Given the description of an element on the screen output the (x, y) to click on. 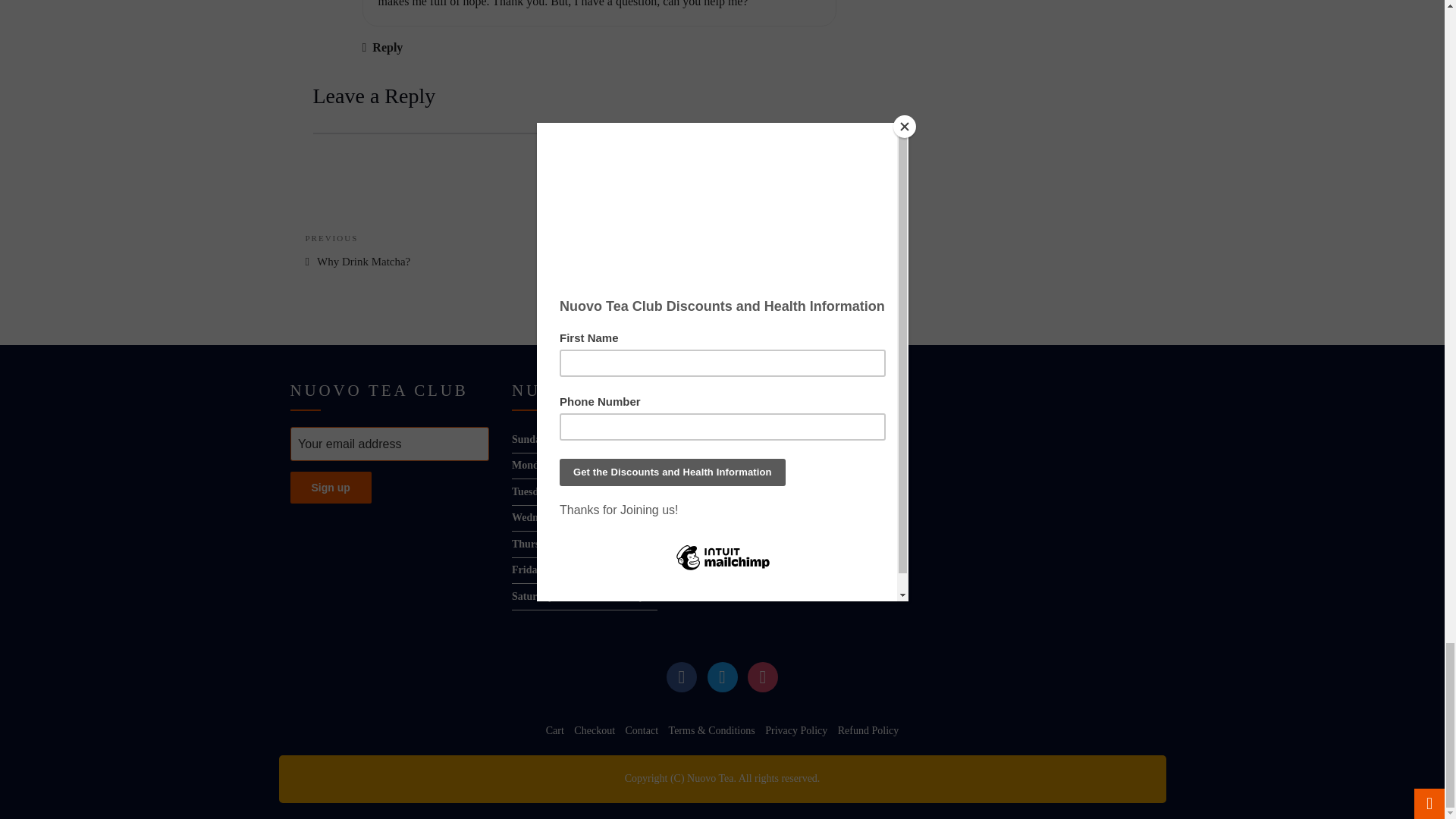
Sign up (330, 487)
Facebook (681, 676)
Instagram (762, 676)
Twitter (721, 676)
